Given the description of an element on the screen output the (x, y) to click on. 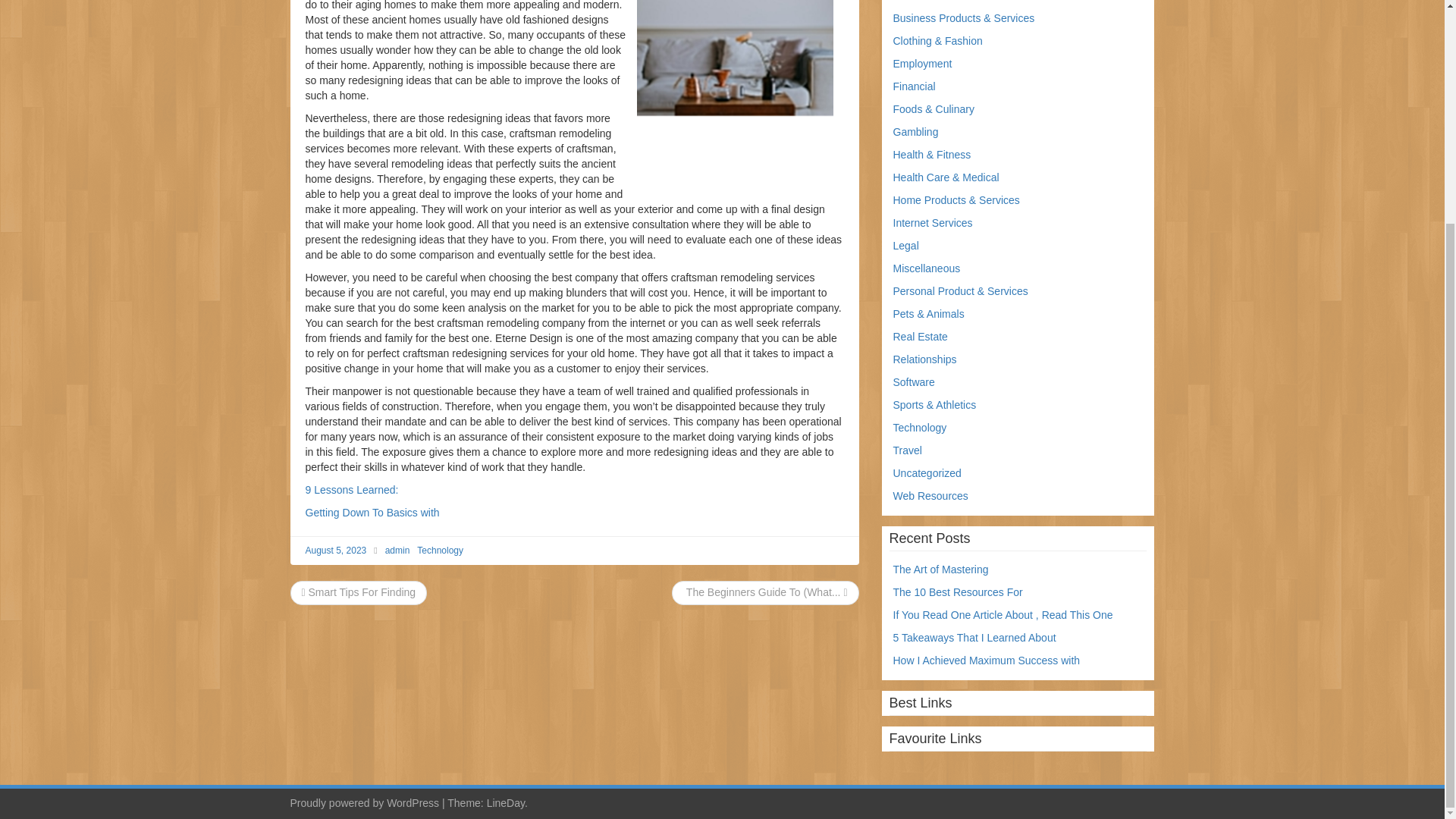
Real Estate (920, 336)
Uncategorized (926, 472)
Technology (439, 550)
Technology (920, 427)
Internet Services (932, 223)
Getting Down To Basics with (371, 512)
Gambling (916, 132)
Travel (907, 450)
Legal (905, 245)
Software (913, 381)
